Given the description of an element on the screen output the (x, y) to click on. 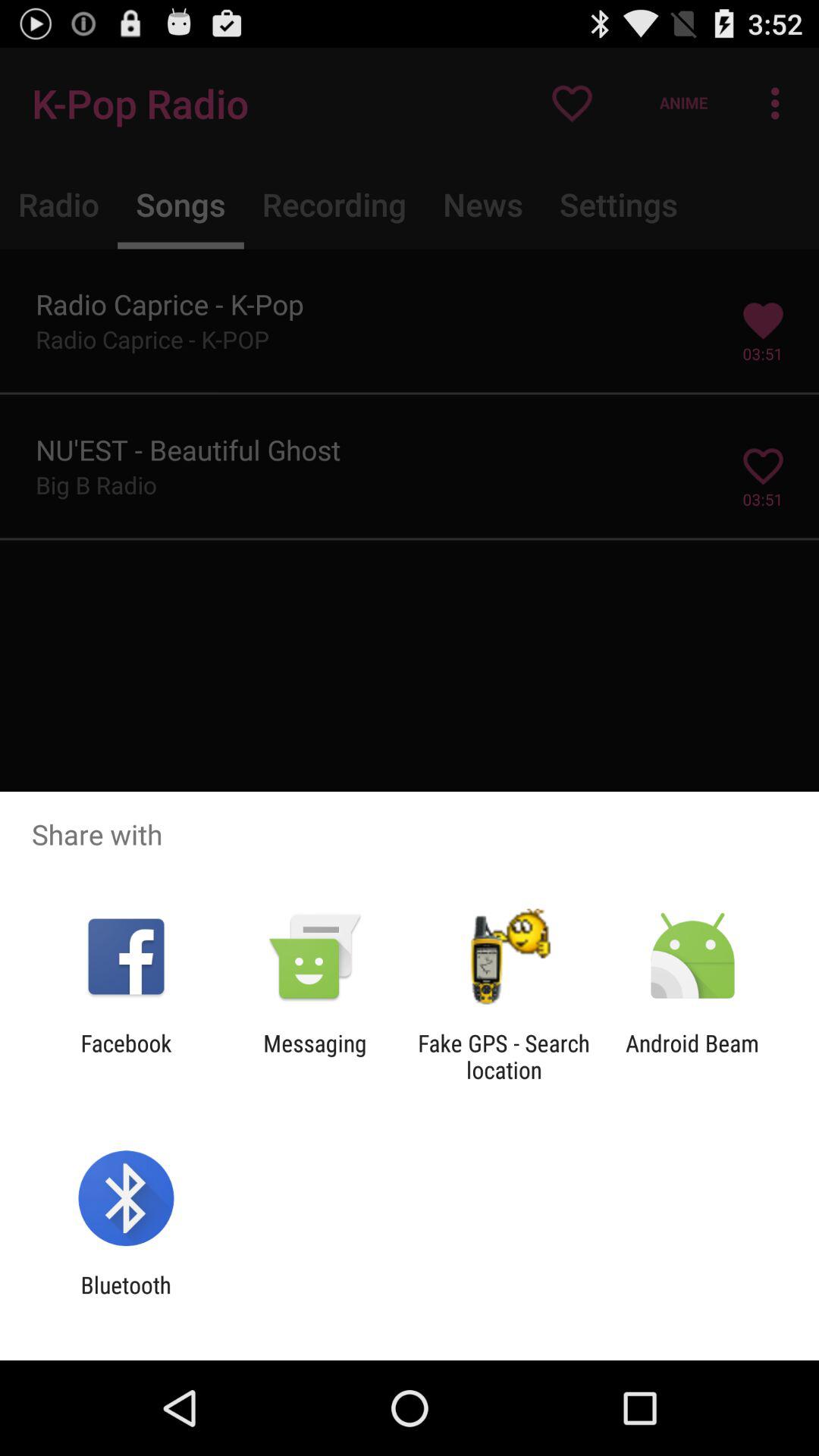
turn on the app to the left of messaging item (125, 1056)
